Given the description of an element on the screen output the (x, y) to click on. 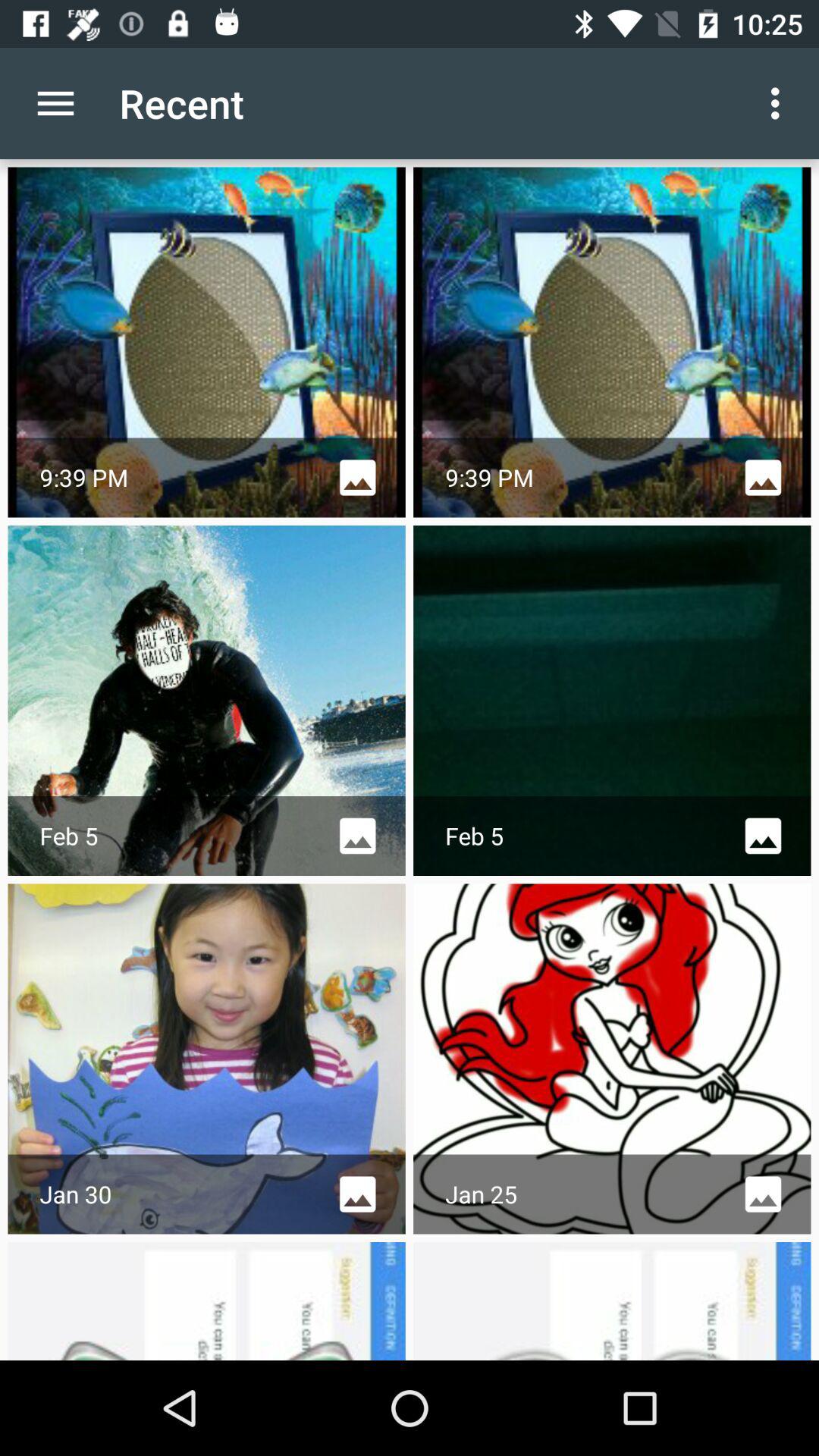
click on icon below more settings (612, 342)
click on the first image in the second row (206, 700)
select the sixth image of the page (612, 1058)
select the second image of the page (612, 342)
click on the first image in last row (206, 1300)
click on 1st image in the 2nd row below recent (206, 700)
click the second image in second row from left (612, 700)
click on the second image in third row (612, 1058)
click on the image below the text jan 25 (612, 1300)
click on the image located at top right corner (612, 342)
click on the customize and control icon (779, 103)
click on jan 30 (206, 1058)
